Given the description of an element on the screen output the (x, y) to click on. 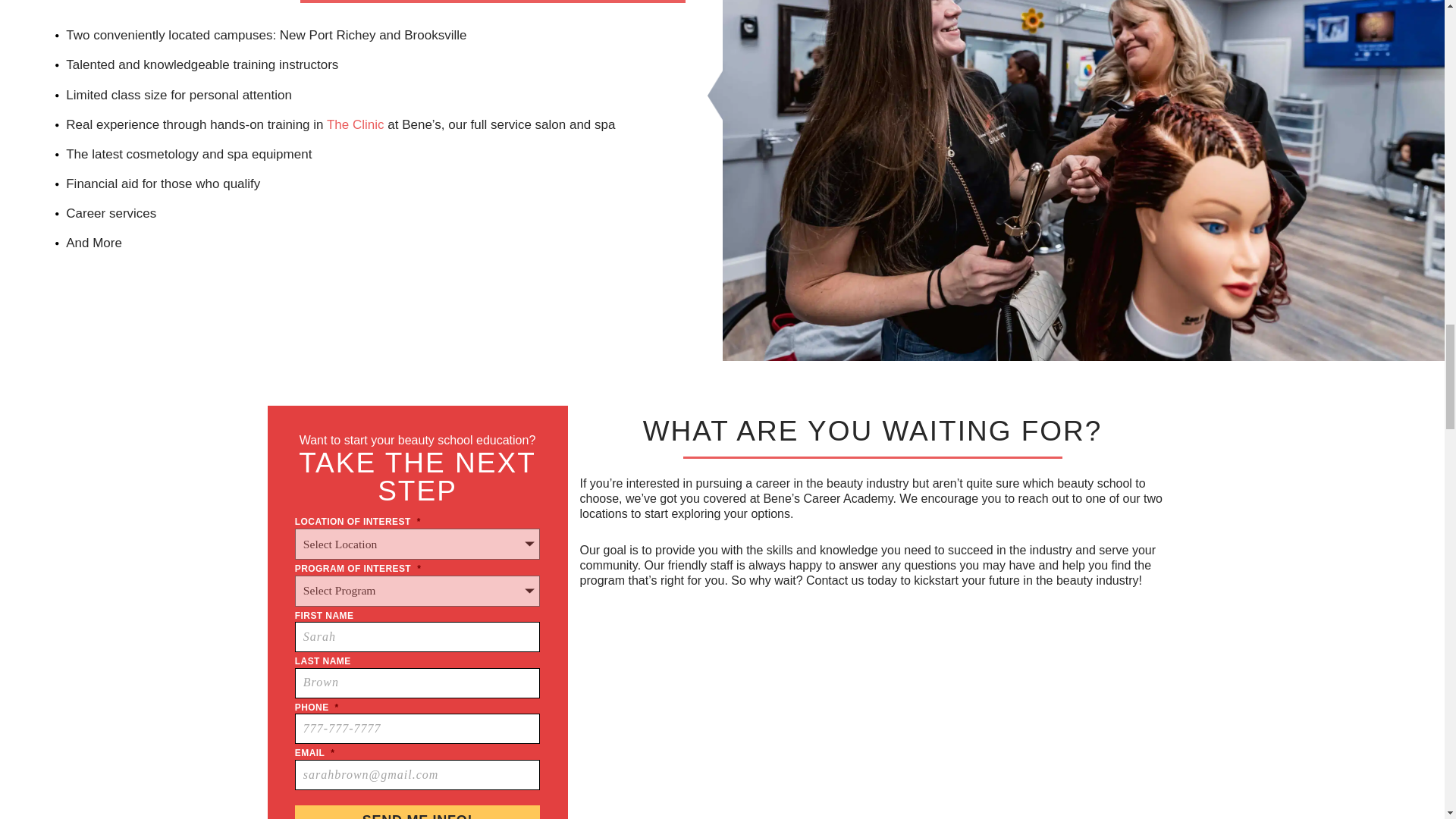
Send Me Info! (417, 812)
